Given the description of an element on the screen output the (x, y) to click on. 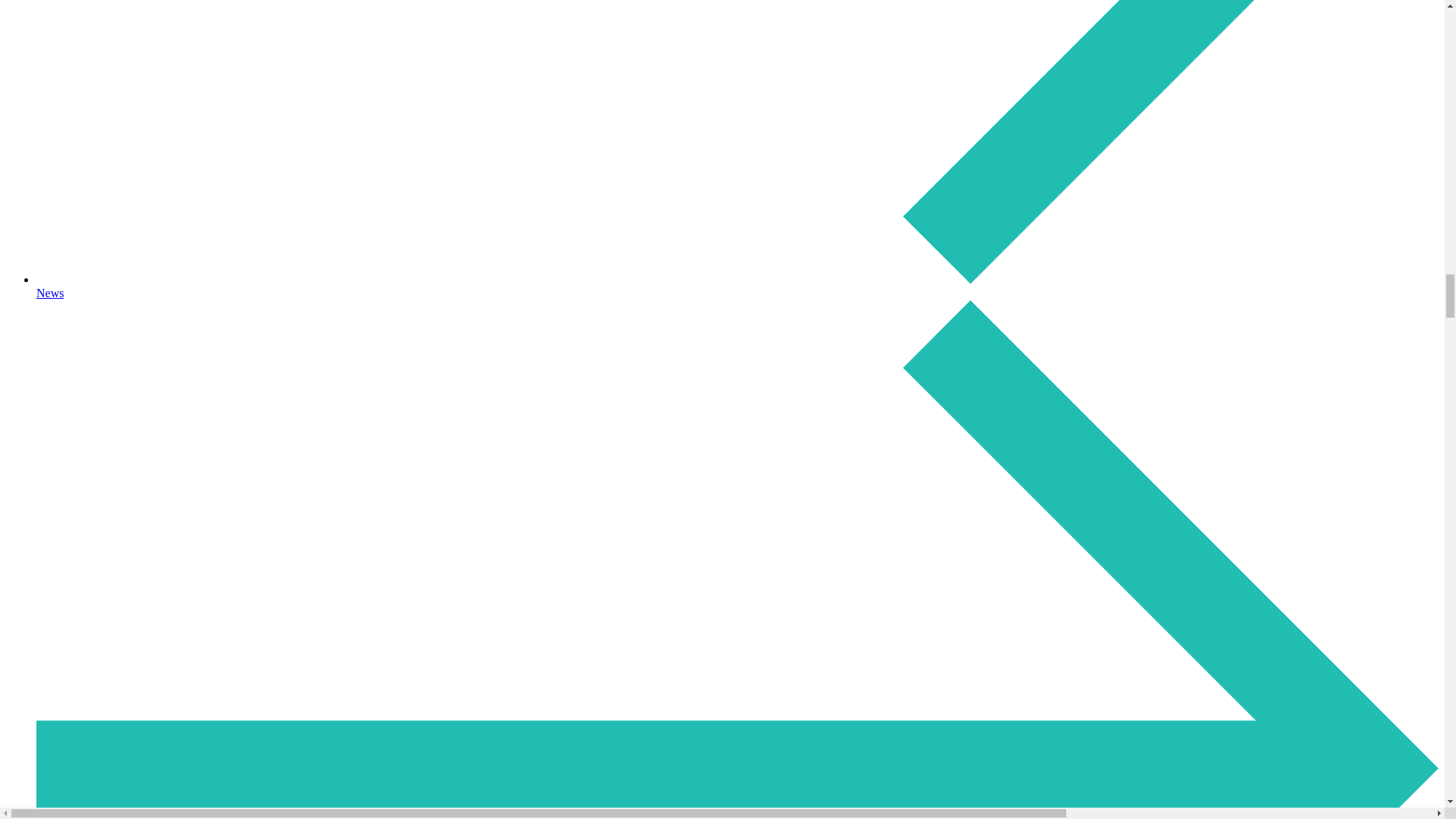
News (737, 285)
